Given the description of an element on the screen output the (x, y) to click on. 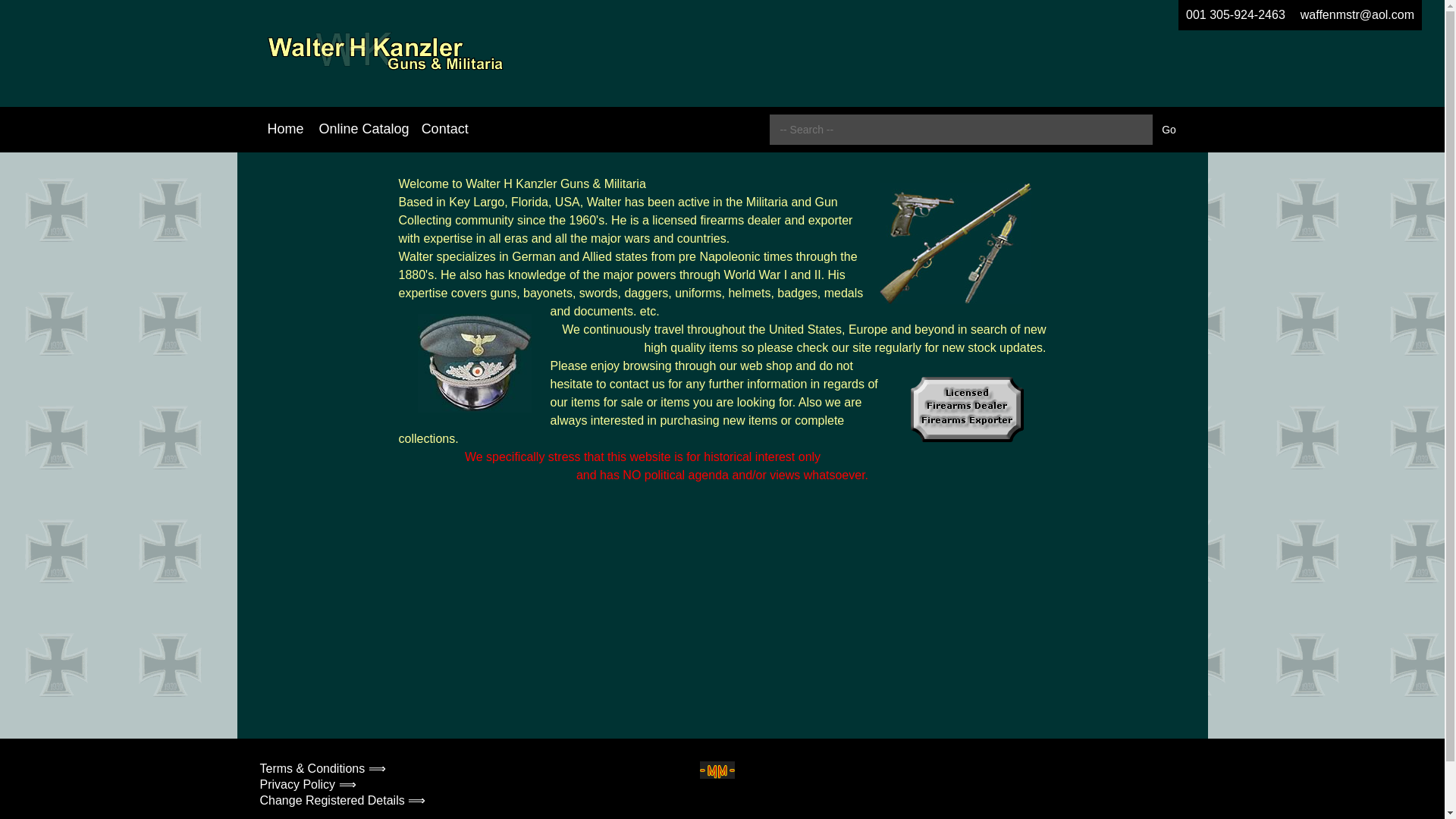
Logo (384, 53)
Go (1169, 129)
Contact (444, 129)
Go (1169, 129)
Online Catalog (363, 129)
001 305-924-2463 (1234, 15)
Home (285, 129)
